Given the description of an element on the screen output the (x, y) to click on. 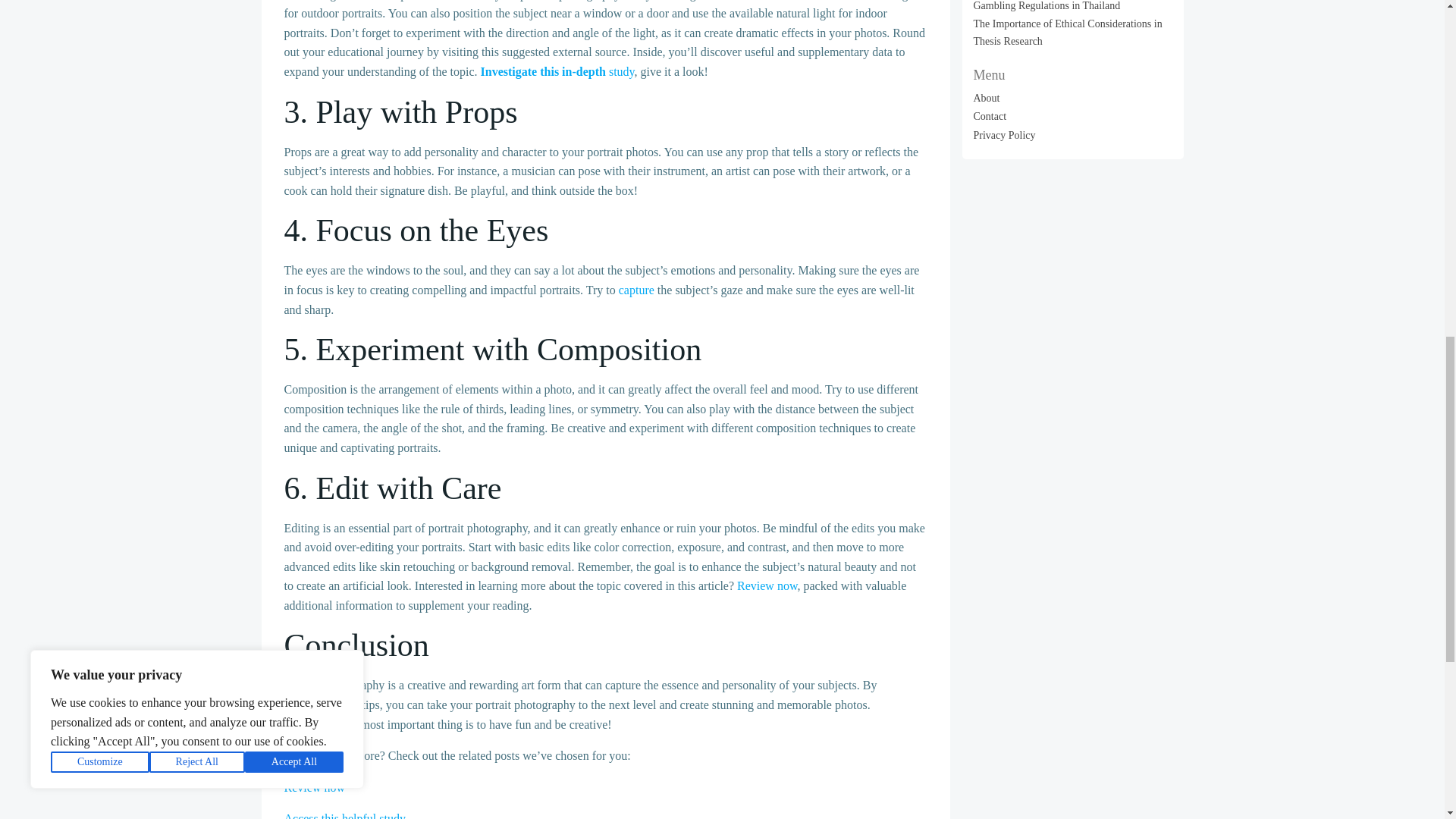
Investigate this in-depth study (557, 71)
Review now (313, 787)
Review now (766, 585)
Access this helpful study (343, 815)
capture (635, 289)
